Given the description of an element on the screen output the (x, y) to click on. 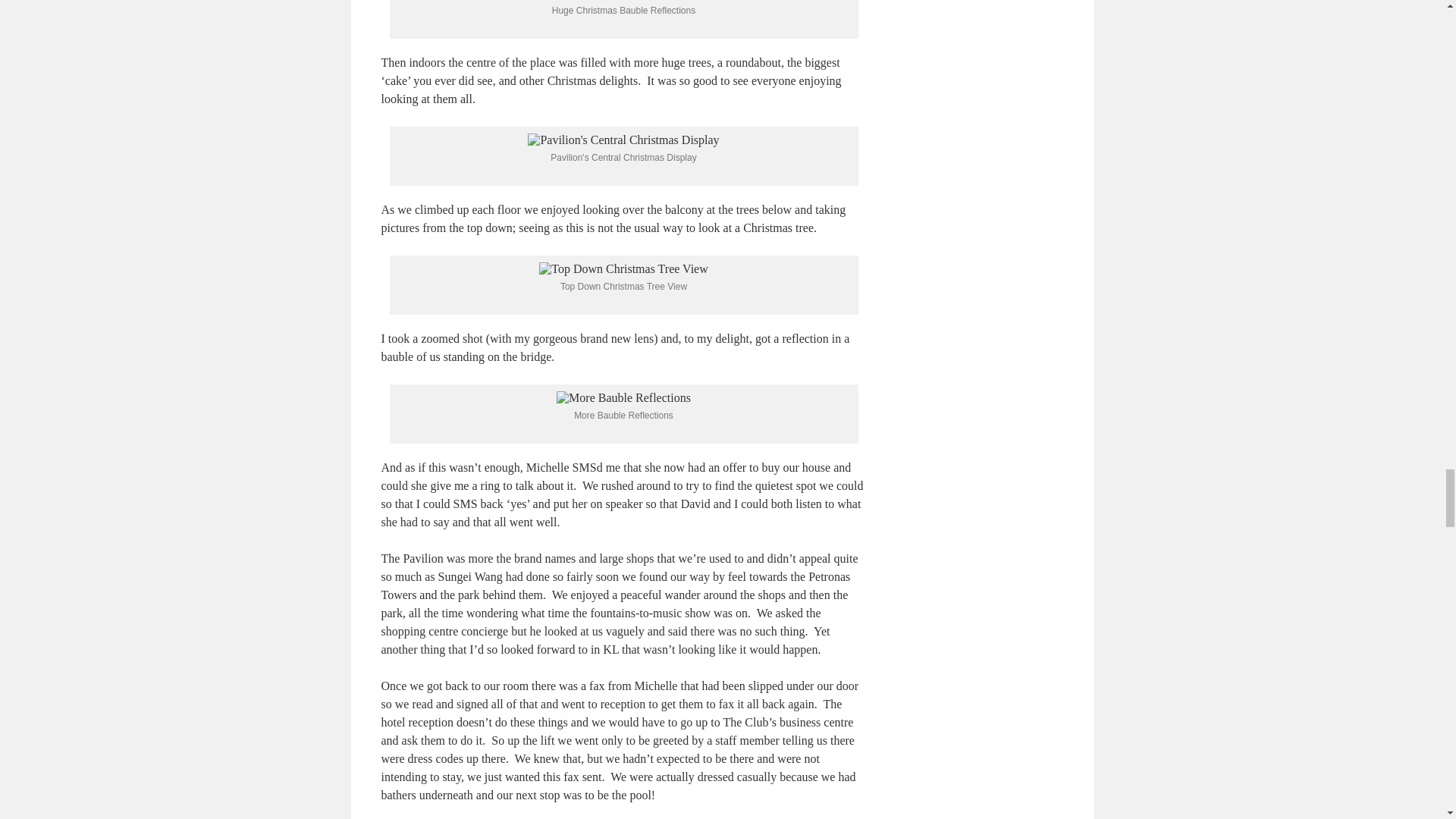
Pavilion's Central Christmas Display (623, 140)
Top Down Christmas Tree View (622, 269)
More Bauble Reflections (623, 397)
